Given the description of an element on the screen output the (x, y) to click on. 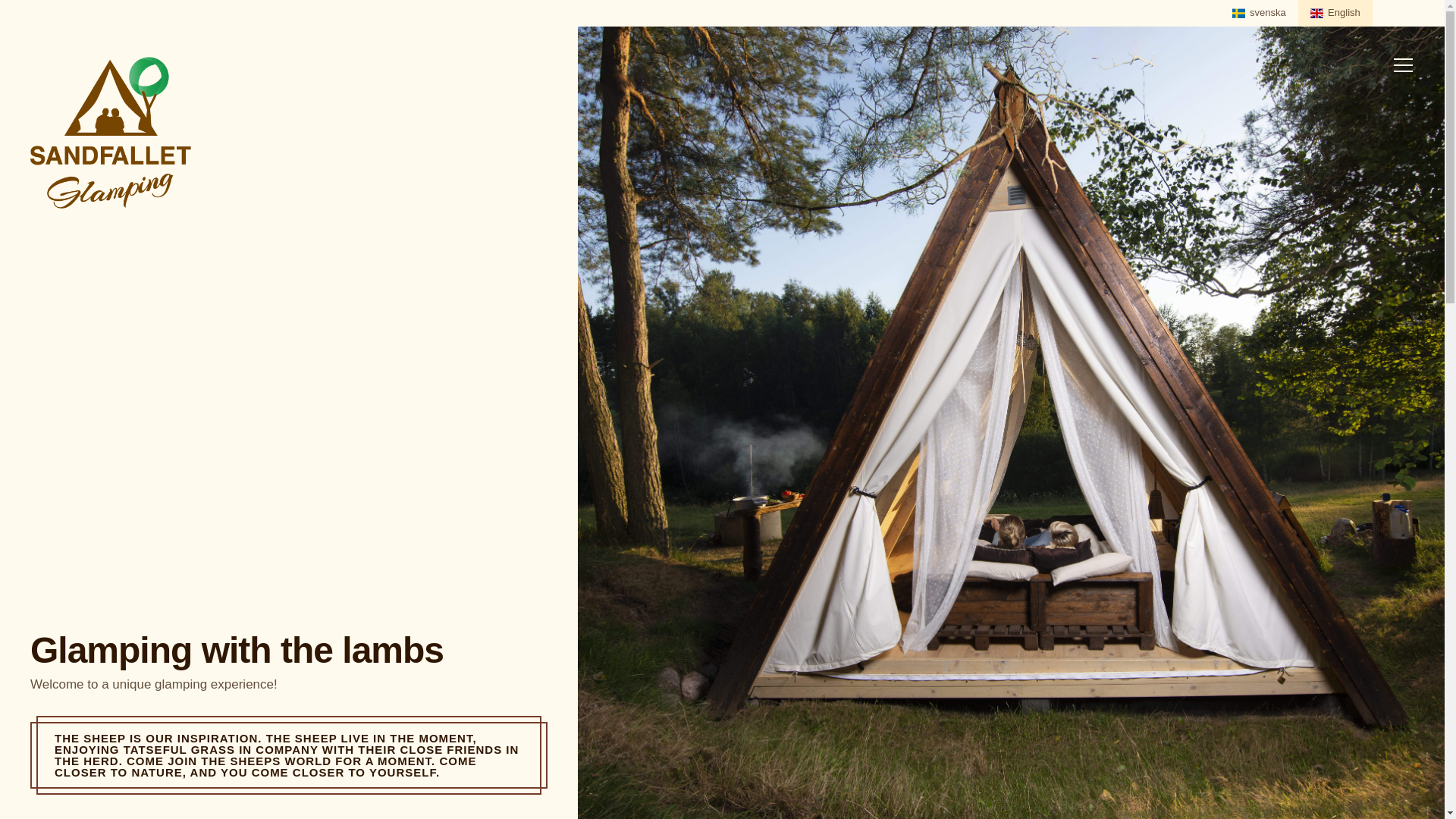
svenska (1259, 13)
Meny (1403, 65)
English (1335, 13)
